Given the description of an element on the screen output the (x, y) to click on. 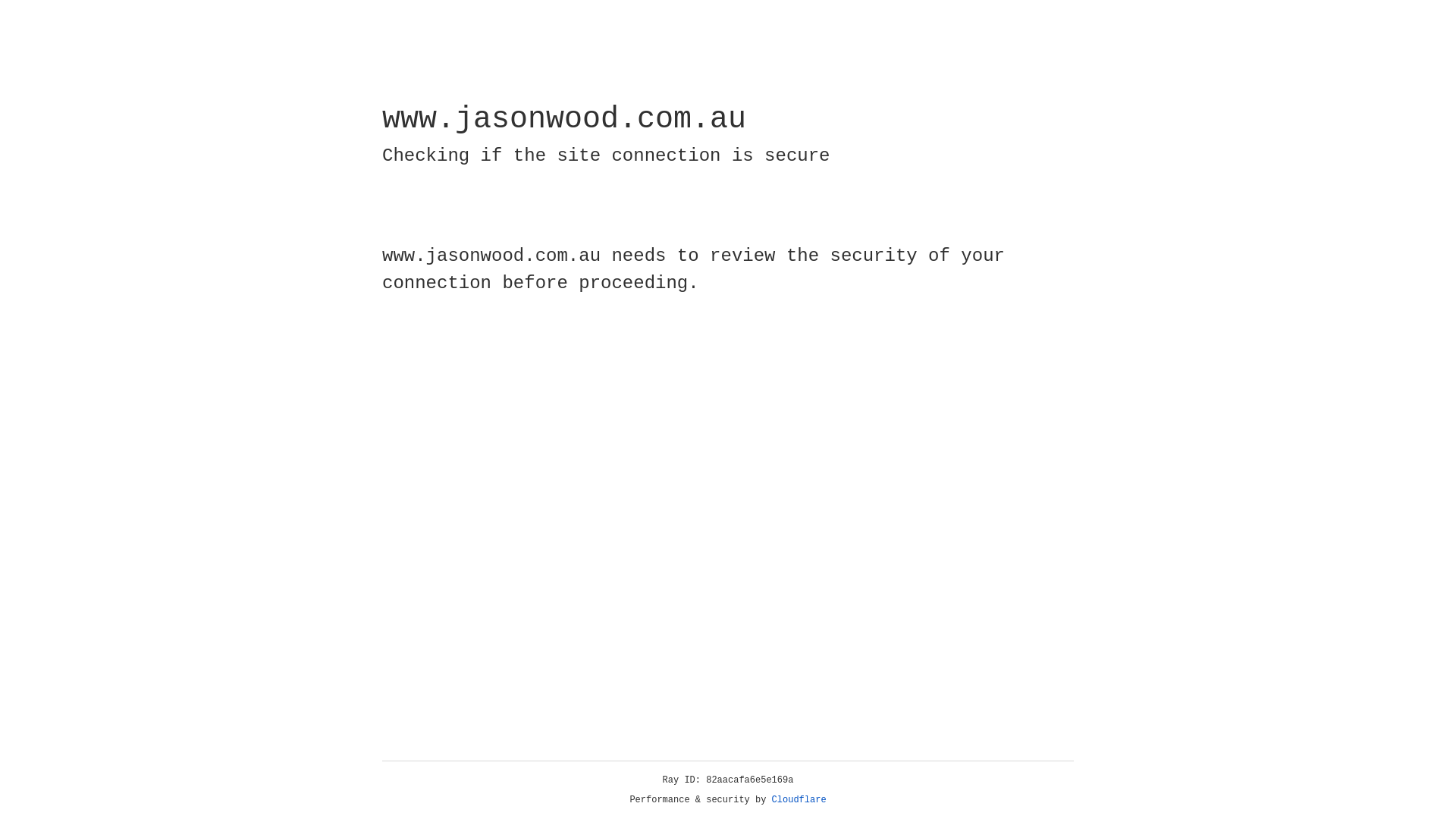
Cloudflare Element type: text (798, 799)
